Given the description of an element on the screen output the (x, y) to click on. 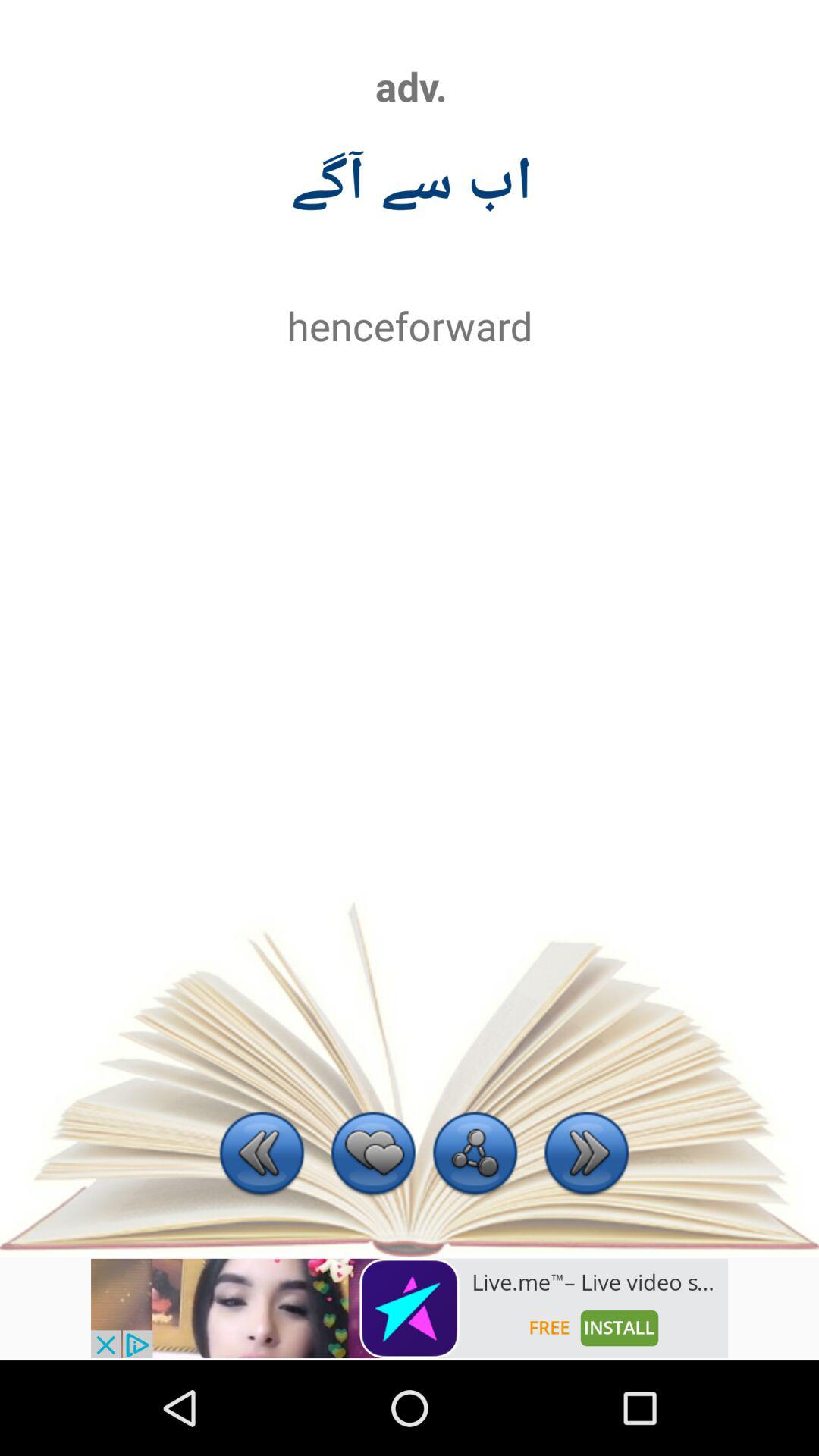
notifications (409, 1308)
